Given the description of an element on the screen output the (x, y) to click on. 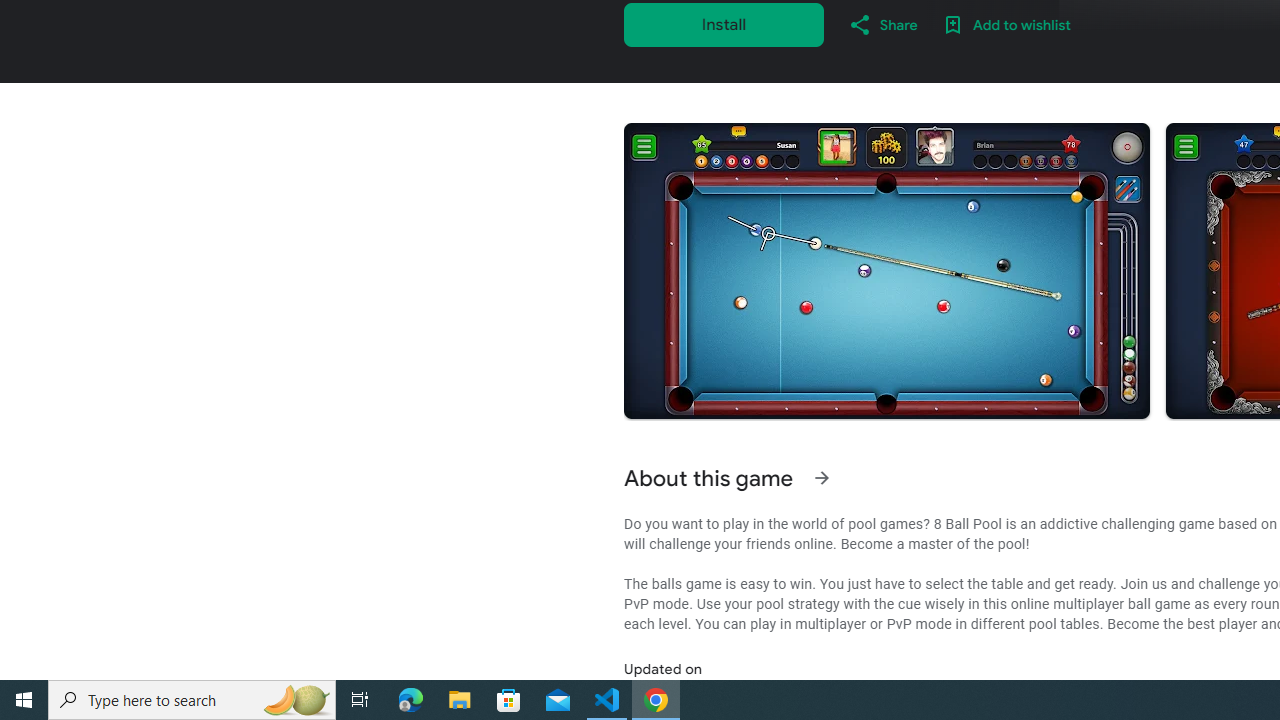
Transform (104, 278)
